Given the description of an element on the screen output the (x, y) to click on. 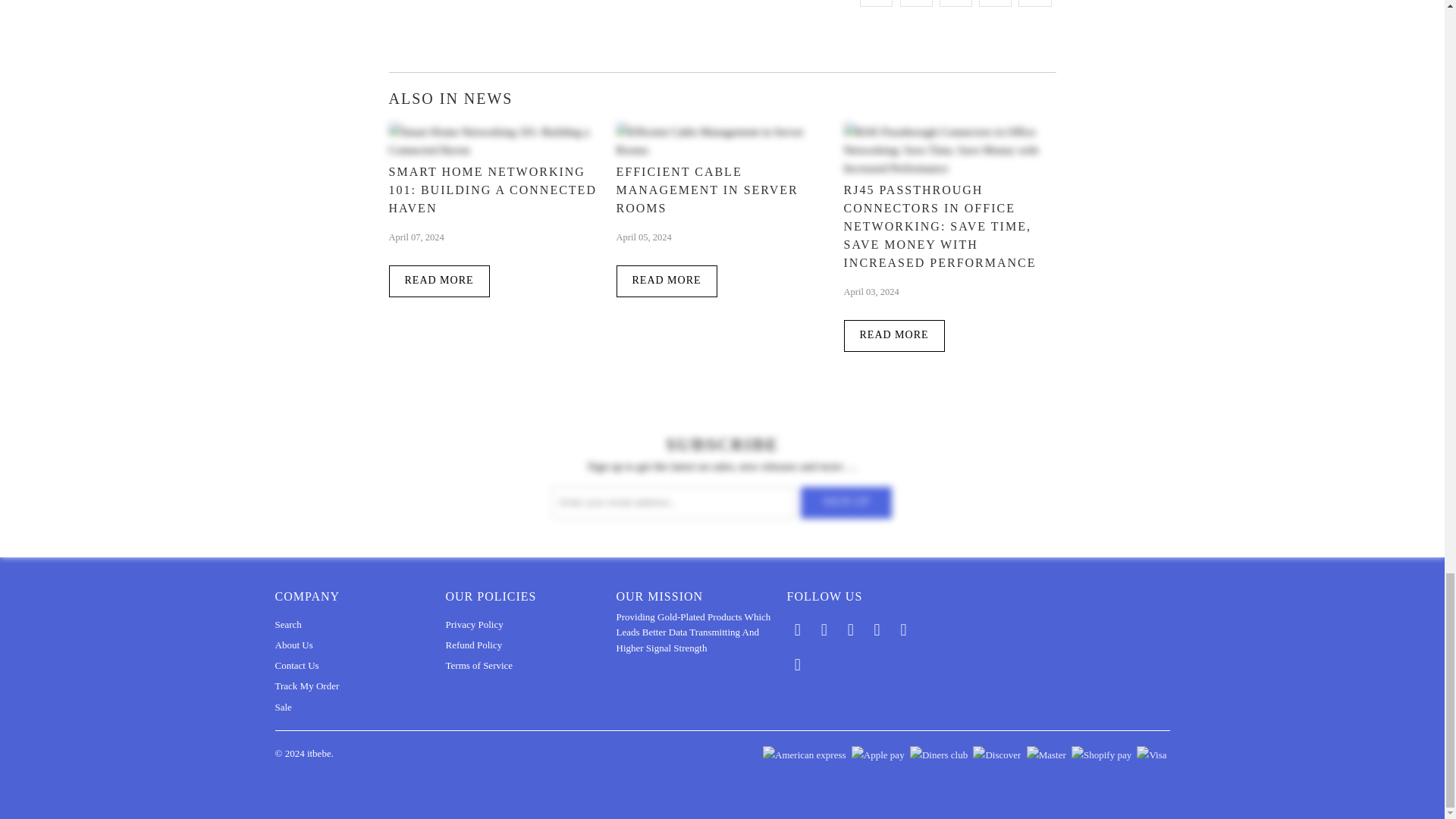
Share this on Twitter (876, 3)
Share this on Facebook (916, 3)
Sign Up (845, 501)
Share this on Pinterest (955, 3)
